Given the description of an element on the screen output the (x, y) to click on. 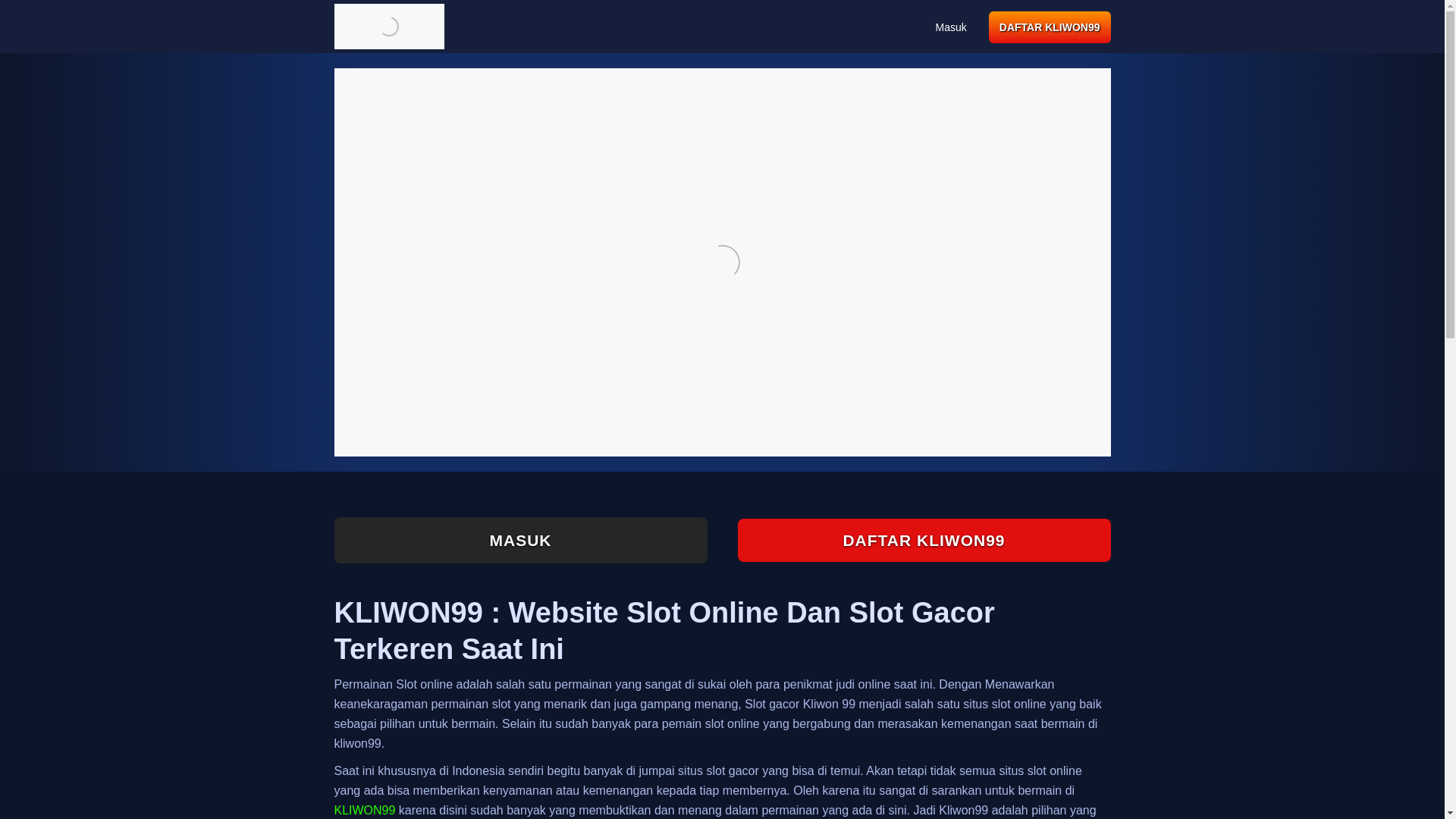
DAFTAR KLIWON99 (1049, 27)
Masuk (950, 27)
DAFTAR KLIWON99 (922, 539)
MASUK (519, 539)
KLIWON99 (363, 809)
KLIWON99 (363, 809)
